Given the description of an element on the screen output the (x, y) to click on. 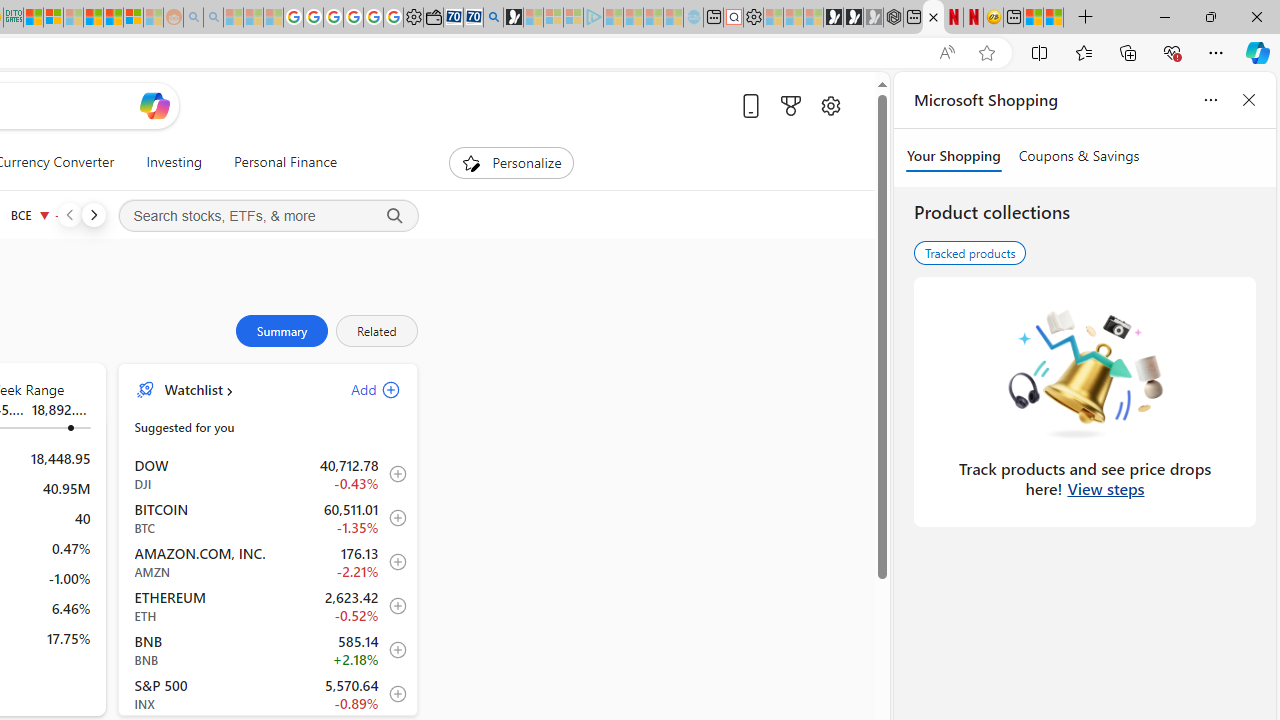
Next (93, 214)
Add to Watchlist (392, 694)
INX S&P 500 decrease 5,570.64 -50.21 -0.89% item5 (267, 693)
